Given the description of an element on the screen output the (x, y) to click on. 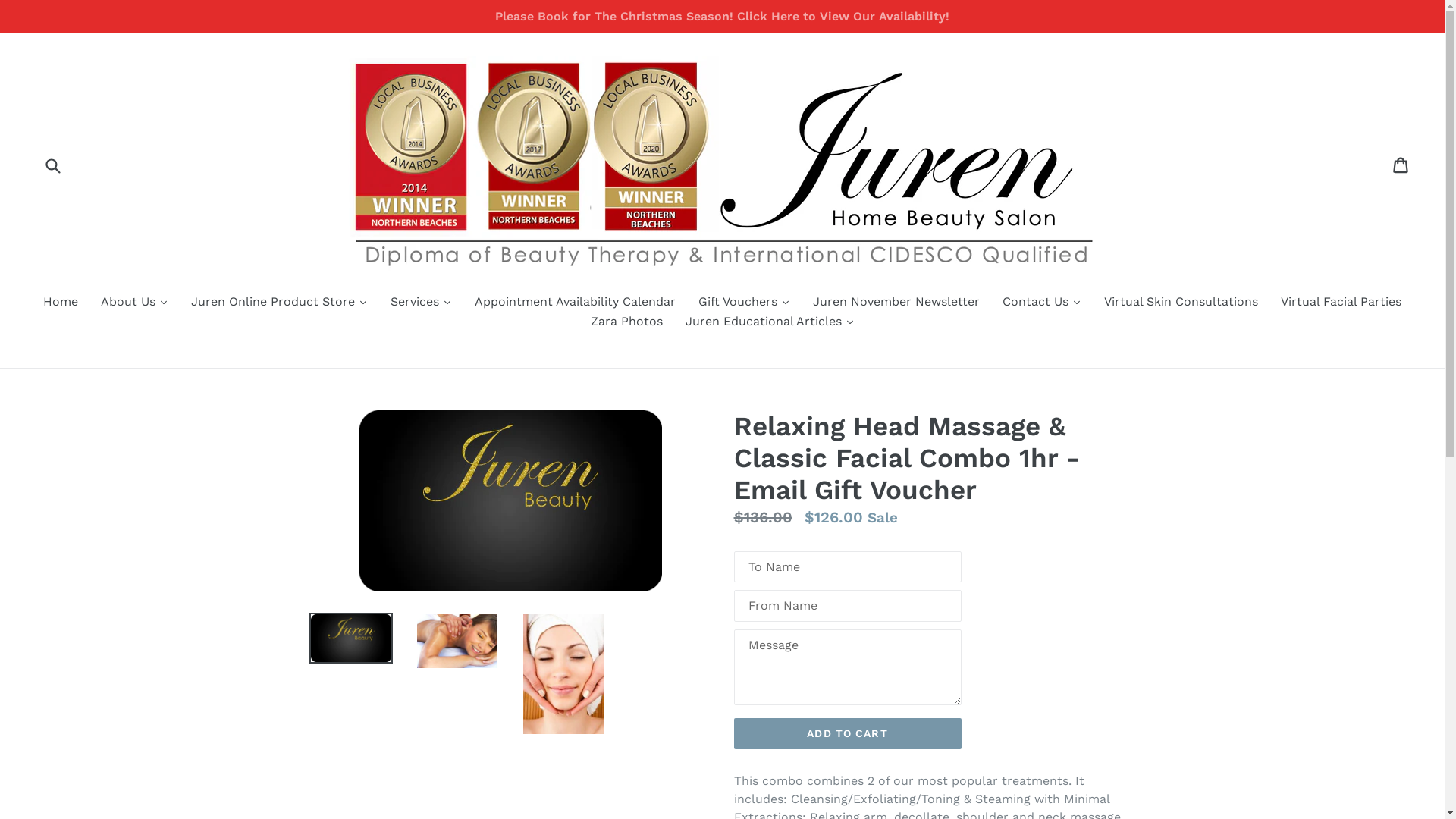
Gift Vouchers Element type: text (744, 302)
Zara Photos Element type: text (626, 322)
Juren November Newsletter Element type: text (896, 302)
Virtual Skin Consultations Element type: text (1180, 302)
Juren Online Product Store Element type: text (279, 302)
Services Element type: text (421, 302)
Juren Educational Articles Element type: text (769, 322)
Virtual Facial Parties Element type: text (1340, 302)
Contact Us Element type: text (1041, 302)
Submit Element type: text (51, 164)
About Us Element type: text (134, 302)
Cart
Cart Element type: text (1401, 164)
ADD TO CART Element type: text (847, 733)
Home Element type: text (60, 302)
Appointment Availability Calendar Element type: text (575, 302)
